Given the description of an element on the screen output the (x, y) to click on. 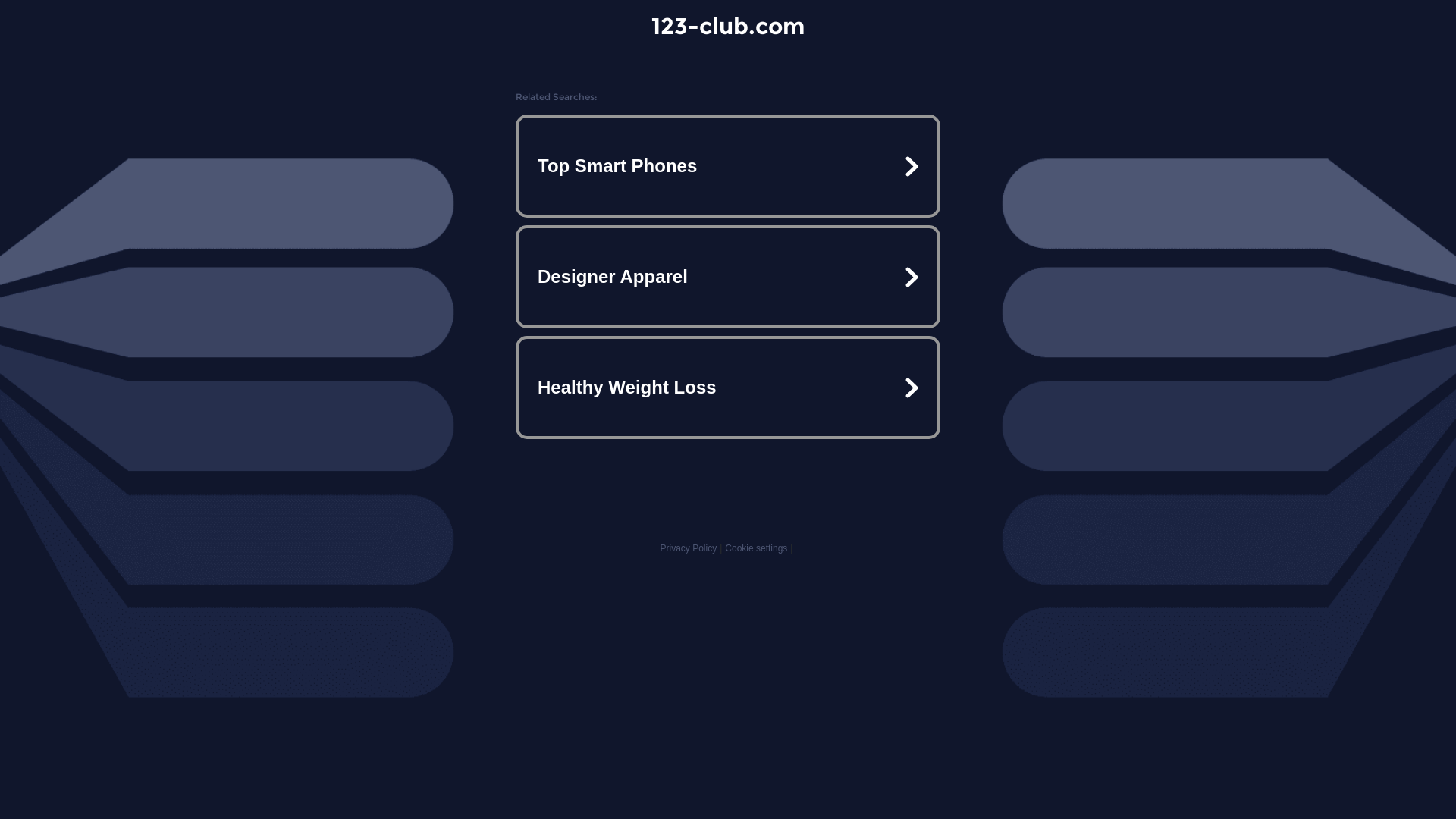
Cookie settings Element type: text (755, 547)
Privacy Policy Element type: text (687, 547)
Top Smart Phones Element type: text (727, 165)
123-club.com Element type: text (727, 26)
Designer Apparel Element type: text (727, 276)
Healthy Weight Loss Element type: text (727, 387)
